Given the description of an element on the screen output the (x, y) to click on. 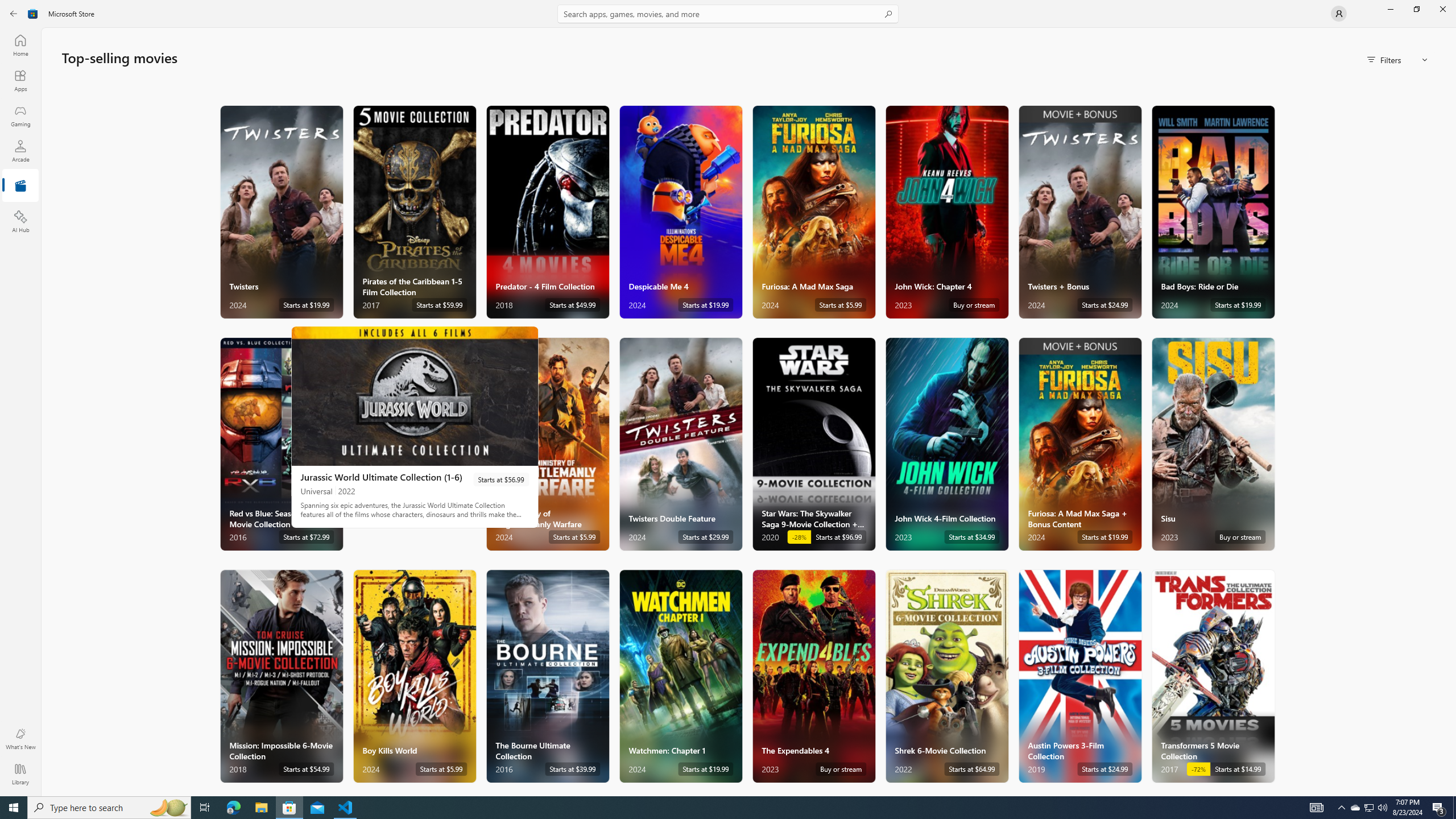
Search (727, 13)
Austin Powers 3-Film Collection. Starts at $24.99   (1079, 675)
Furiosa: A Mad Max Saga + Bonus Content. Starts at $19.99   (1079, 444)
